Given the description of an element on the screen output the (x, y) to click on. 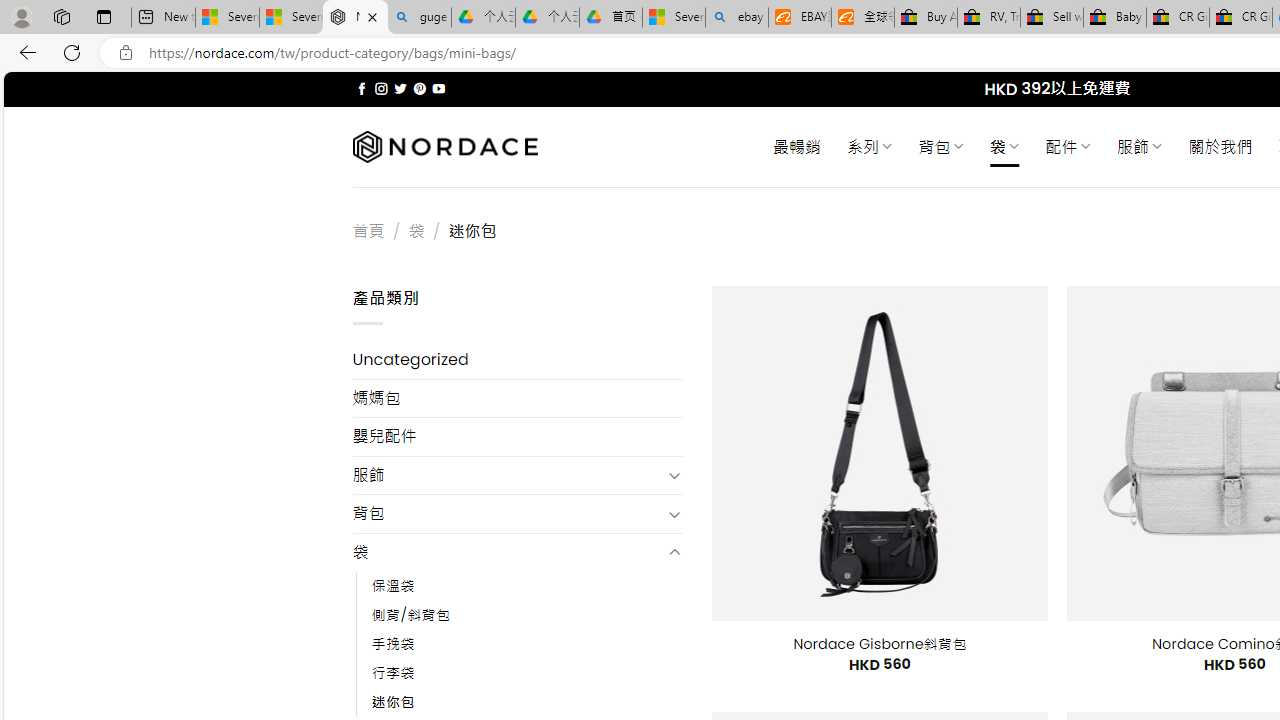
Buy Auto Parts & Accessories | eBay (925, 17)
Uncategorized (517, 359)
